Given the description of an element on the screen output the (x, y) to click on. 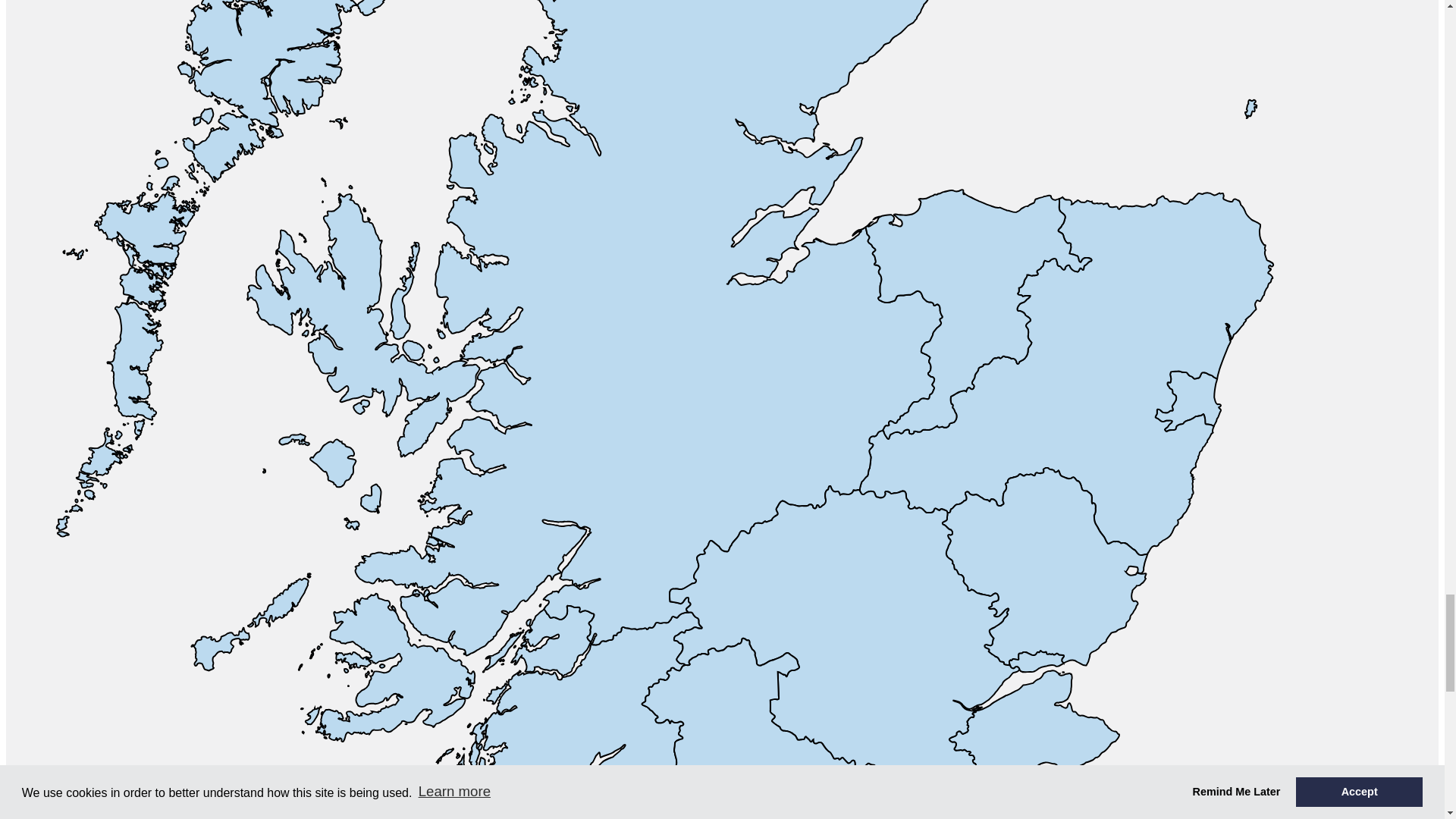
Angus (1044, 566)
Fife (1002, 744)
Falkirk (870, 812)
Aberdeen City (1188, 401)
Dundee (1036, 660)
East Lothian (1092, 817)
Clackmannanshire (878, 789)
Argyll and Bute (445, 697)
